Given the description of an element on the screen output the (x, y) to click on. 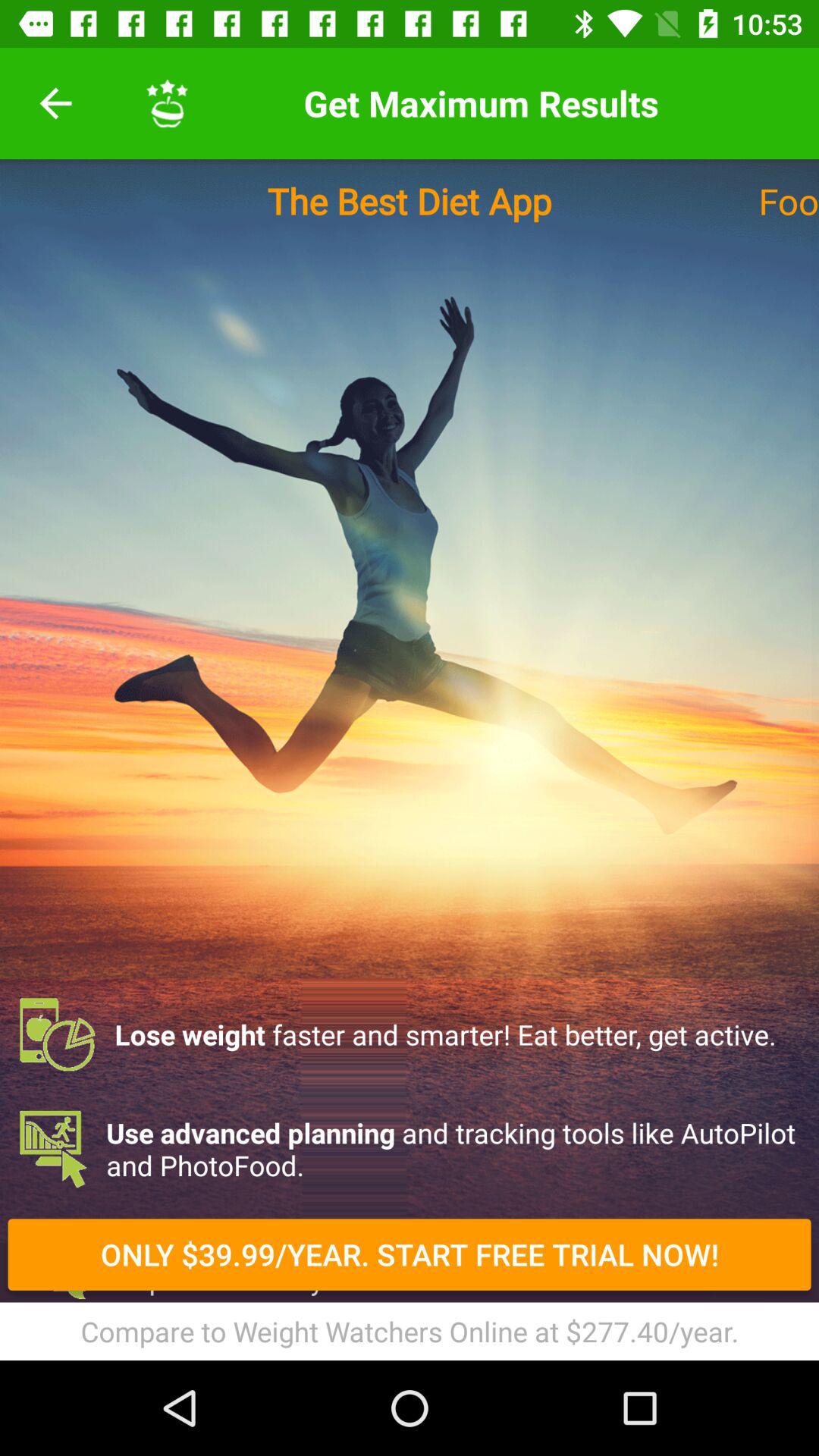
swipe to lose weight faster icon (409, 1034)
